Given the description of an element on the screen output the (x, y) to click on. 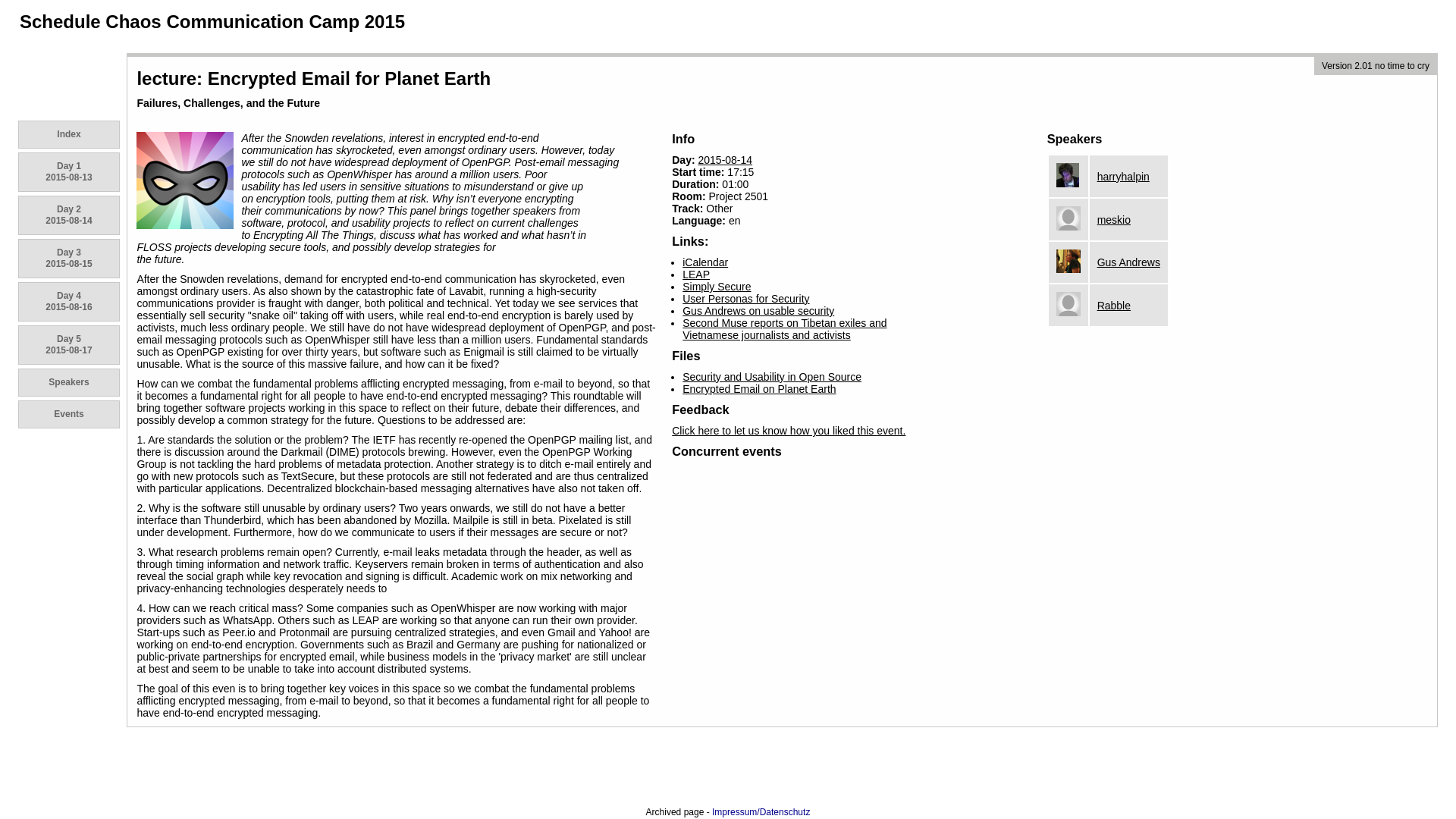
Simply Secure (68, 301)
Index (716, 286)
harryhalpin (68, 134)
Encrypted Email on Planet Earth (1123, 175)
meskio (758, 388)
Gus Andrews on usable security (1114, 219)
LEAP (68, 344)
2015-08-14 (68, 171)
Click here to let us know how you liked this event. (758, 310)
Rabble (696, 274)
